Given the description of an element on the screen output the (x, y) to click on. 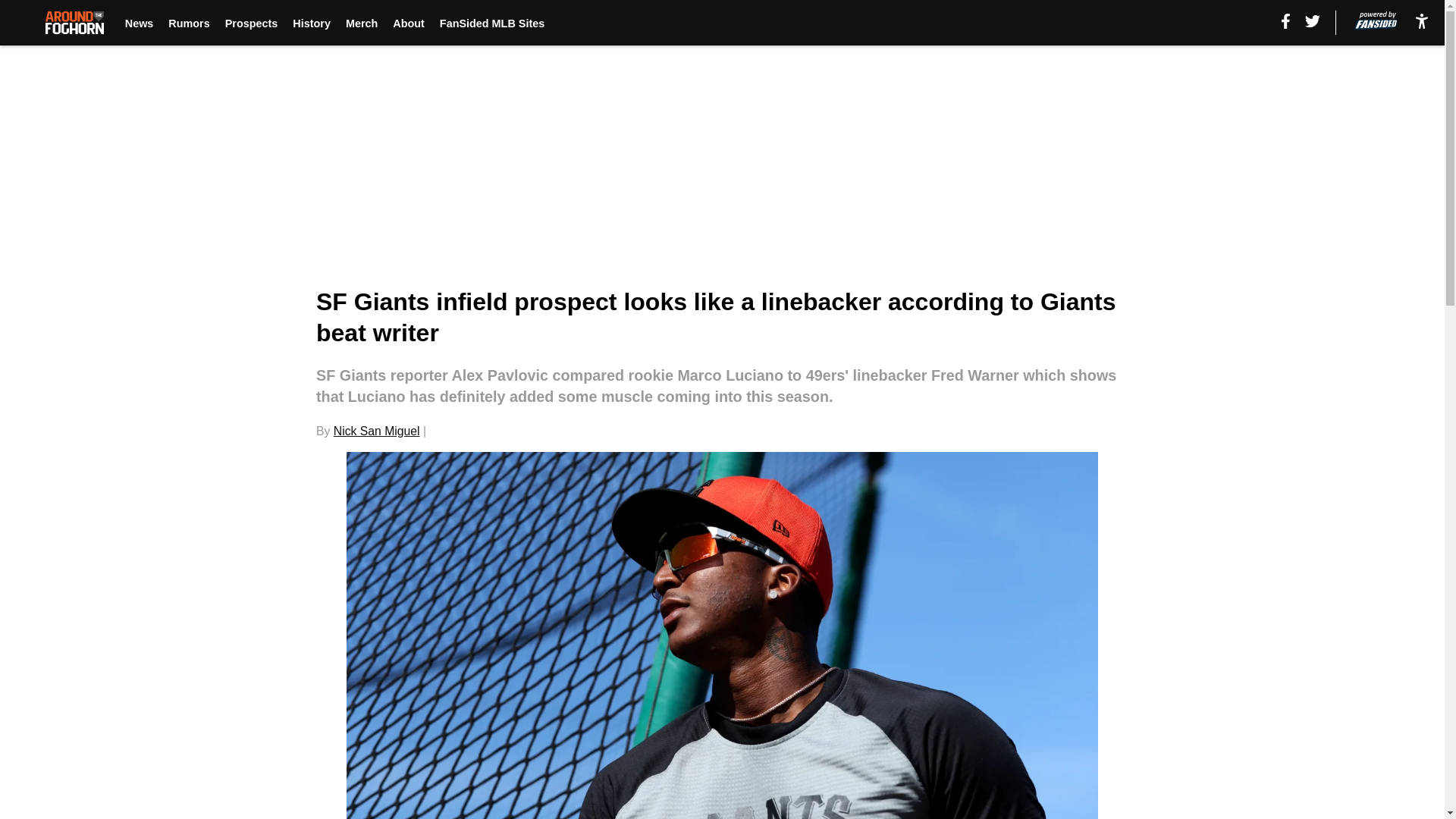
Prospects (251, 23)
Merch (361, 23)
About (409, 23)
History (311, 23)
Rumors (188, 23)
FanSided MLB Sites (491, 23)
Nick San Miguel (376, 431)
News (139, 23)
